Given the description of an element on the screen output the (x, y) to click on. 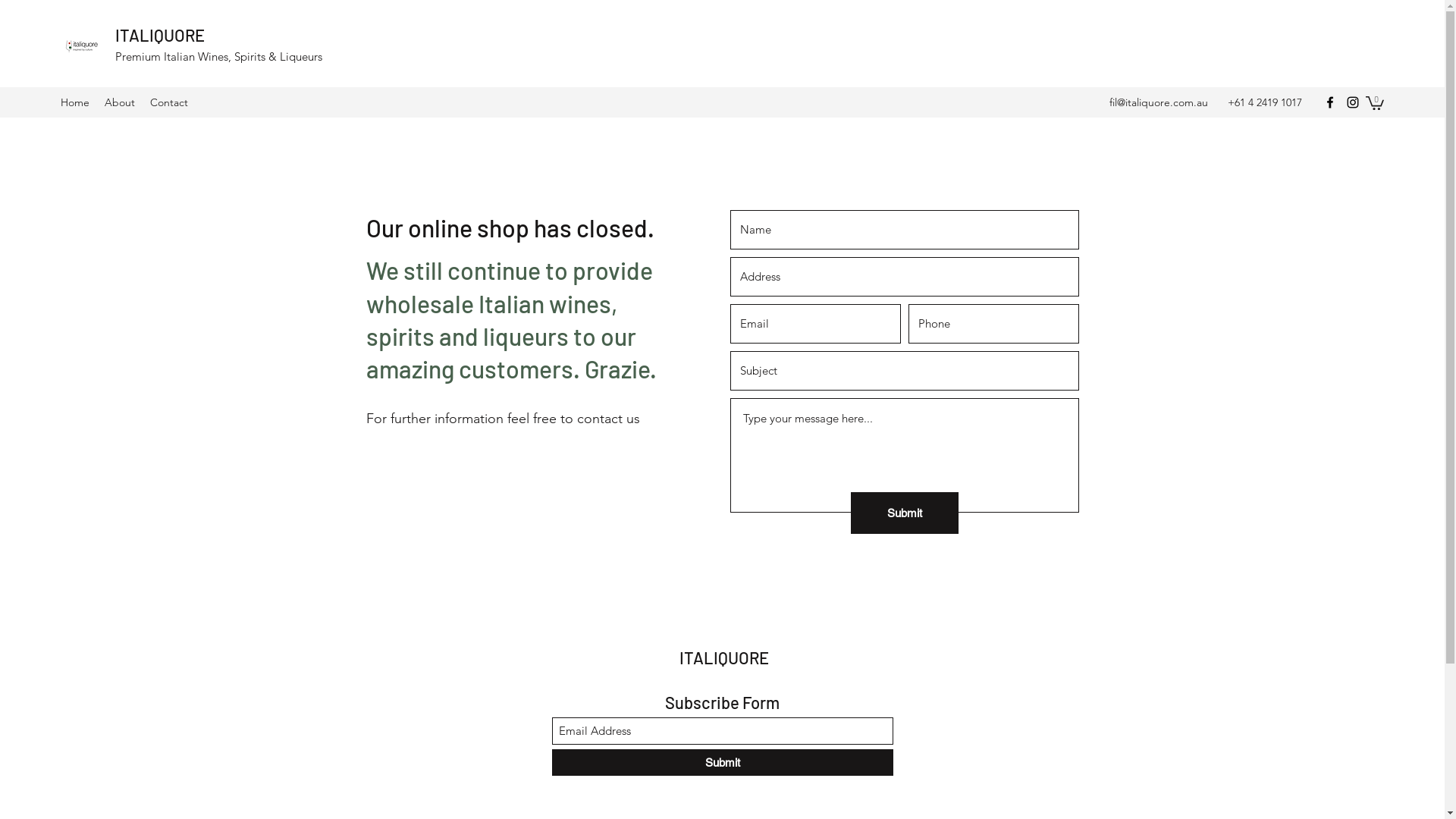
About Element type: text (119, 102)
0 Element type: text (1374, 101)
fil@italiquore.com.au Element type: text (1158, 102)
Submit Element type: text (722, 762)
Contact Element type: text (168, 102)
Submit Element type: text (904, 512)
Home Element type: text (75, 102)
